Given the description of an element on the screen output the (x, y) to click on. 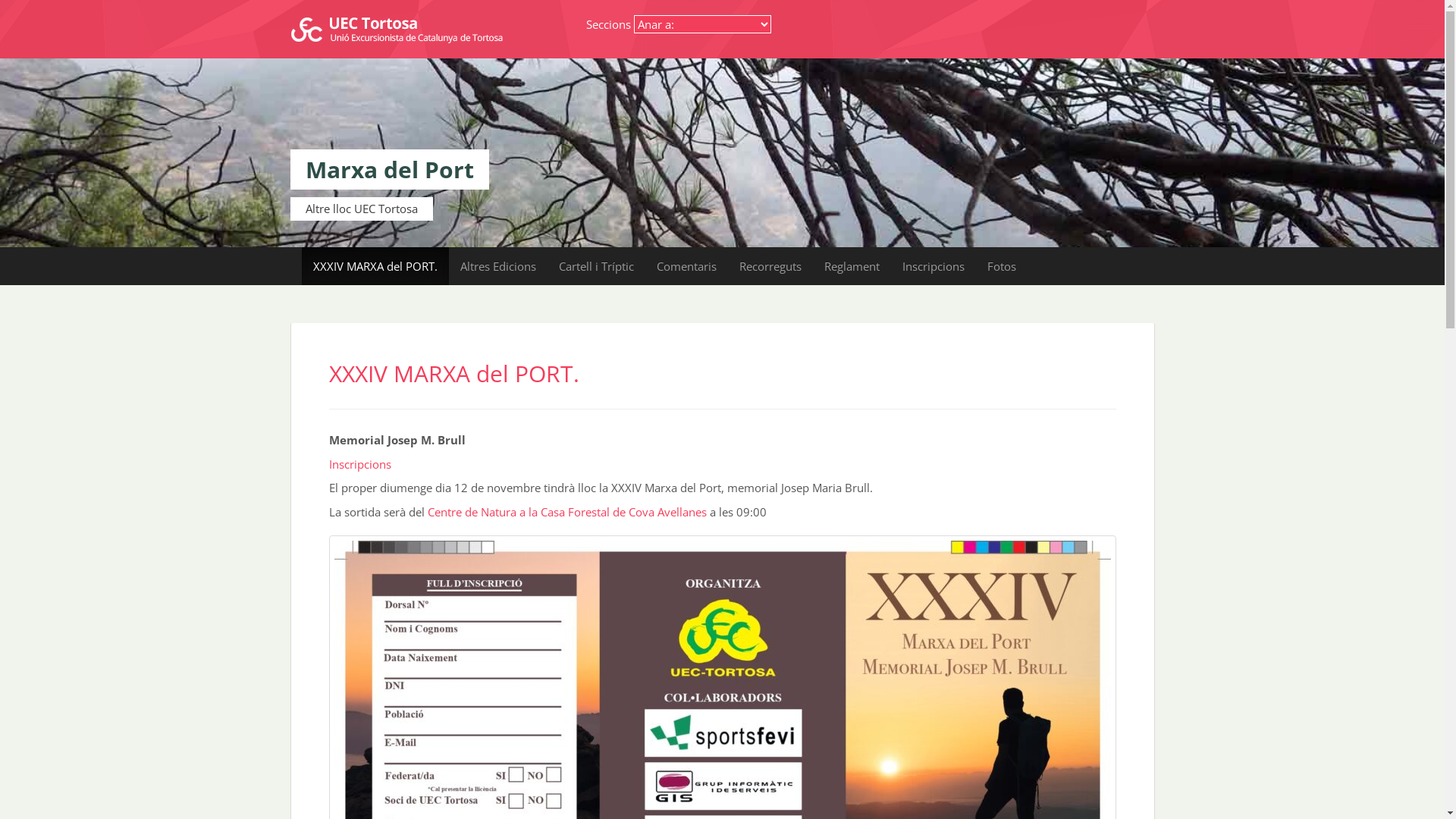
Fotos Element type: text (1000, 266)
Reglament Element type: text (851, 266)
Marxa del Port Element type: text (388, 169)
Altres Edicions Element type: text (497, 266)
XXXIV MARXA del PORT. Element type: text (374, 266)
XXXIV MARXA del PORT. Element type: text (454, 373)
Centre de Natura a la Casa Forestal de Cova Avellanes Element type: text (566, 511)
Comentaris Element type: text (685, 266)
Inscripcions Element type: text (932, 266)
Recorreguts Element type: text (770, 266)
Inscripcions Element type: text (360, 463)
